Given the description of an element on the screen output the (x, y) to click on. 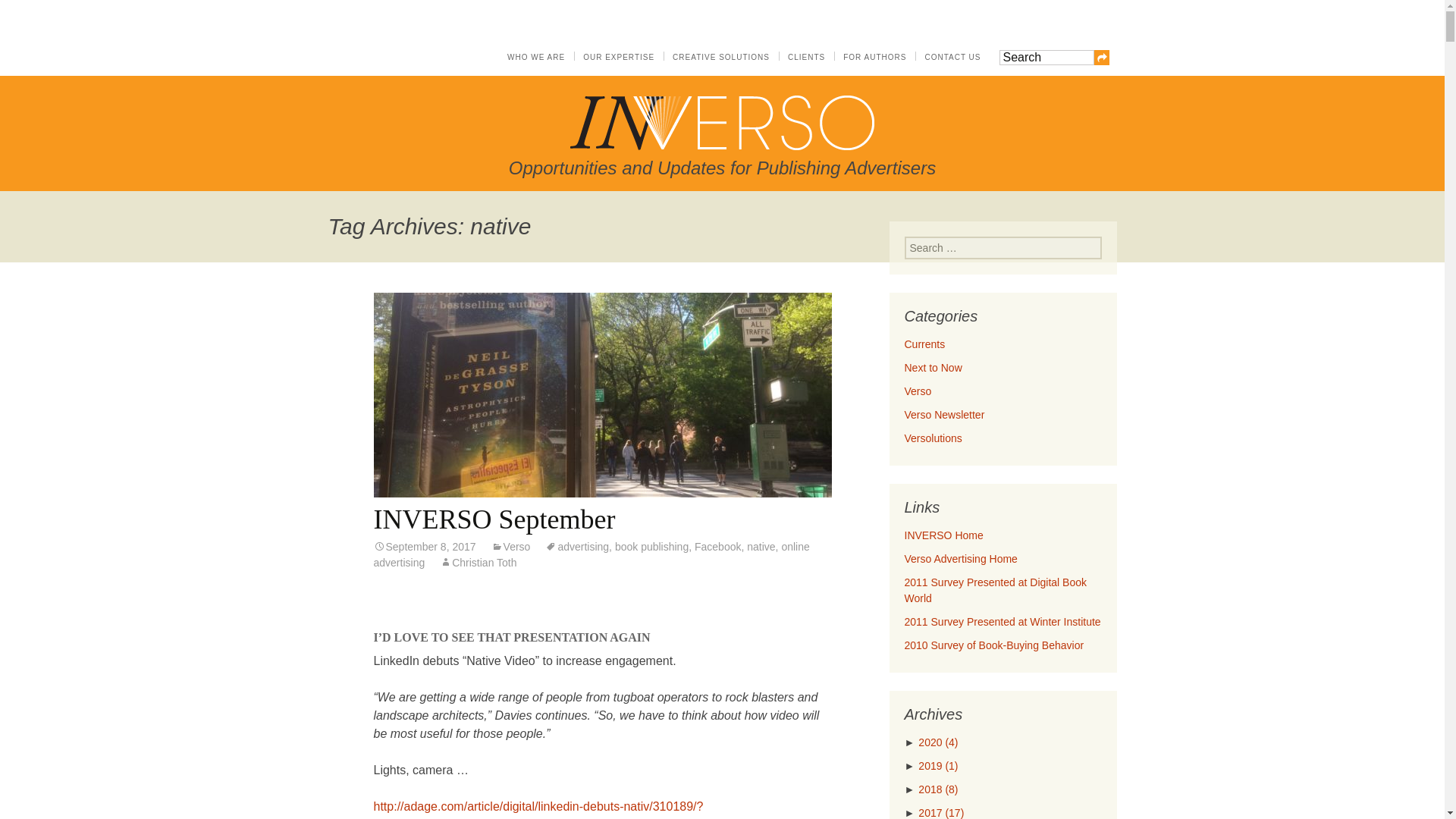
September 8, 2017 (424, 546)
CREATIVE SOLUTIONS (721, 57)
FOR AUTHORS (874, 57)
View all posts by Christian Toth (477, 562)
INVERSO September (493, 519)
WHO WE ARE (535, 57)
Search (1046, 57)
CONTACT US (951, 57)
Facebook (717, 546)
Search (1046, 57)
OUR EXPERTISE (618, 57)
book publishing (651, 546)
online advertising (590, 554)
Christian Toth (477, 562)
advertising (576, 546)
